Given the description of an element on the screen output the (x, y) to click on. 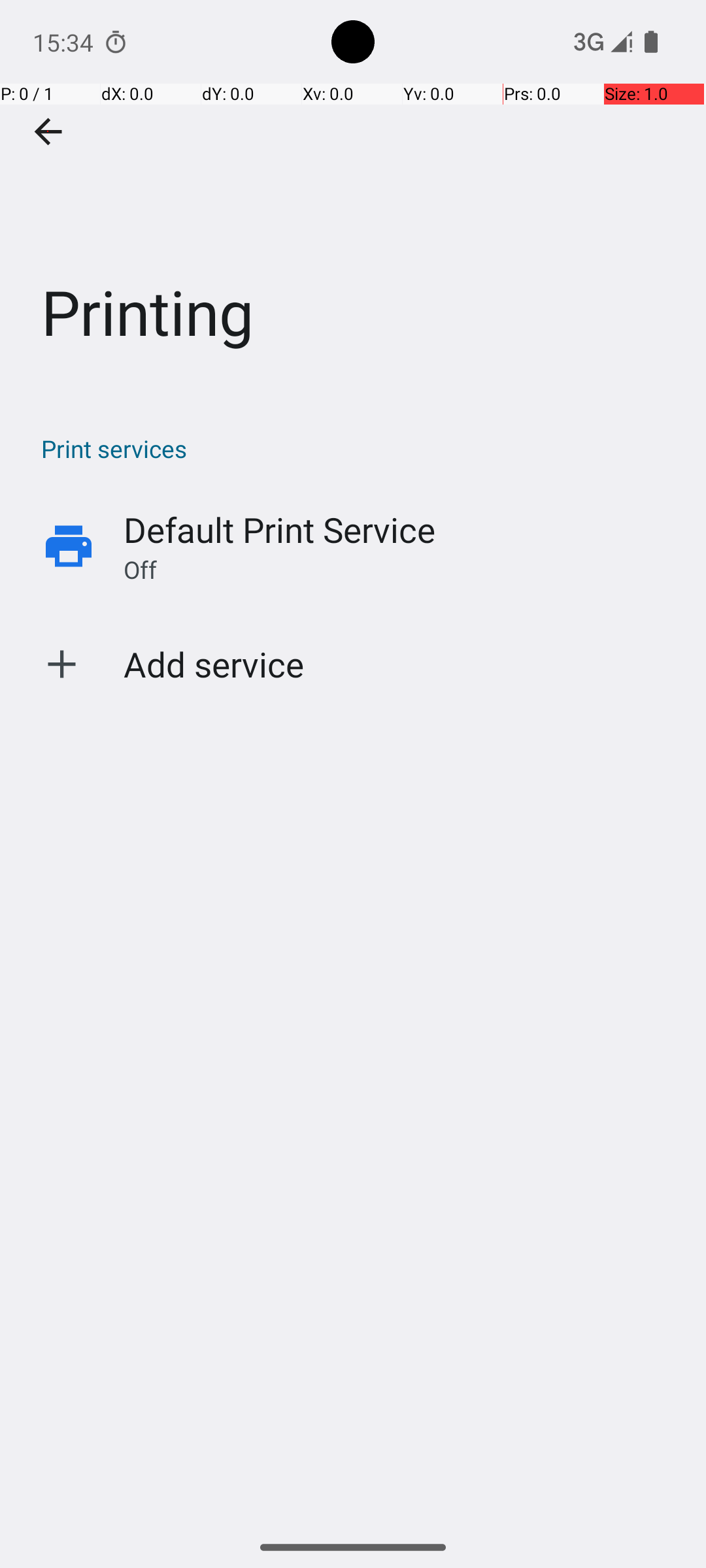
Printing Element type: android.widget.FrameLayout (353, 195)
Print services Element type: android.widget.TextView (359, 448)
Default Print Service Element type: android.widget.TextView (279, 529)
Add service Element type: android.widget.TextView (213, 663)
